Given the description of an element on the screen output the (x, y) to click on. 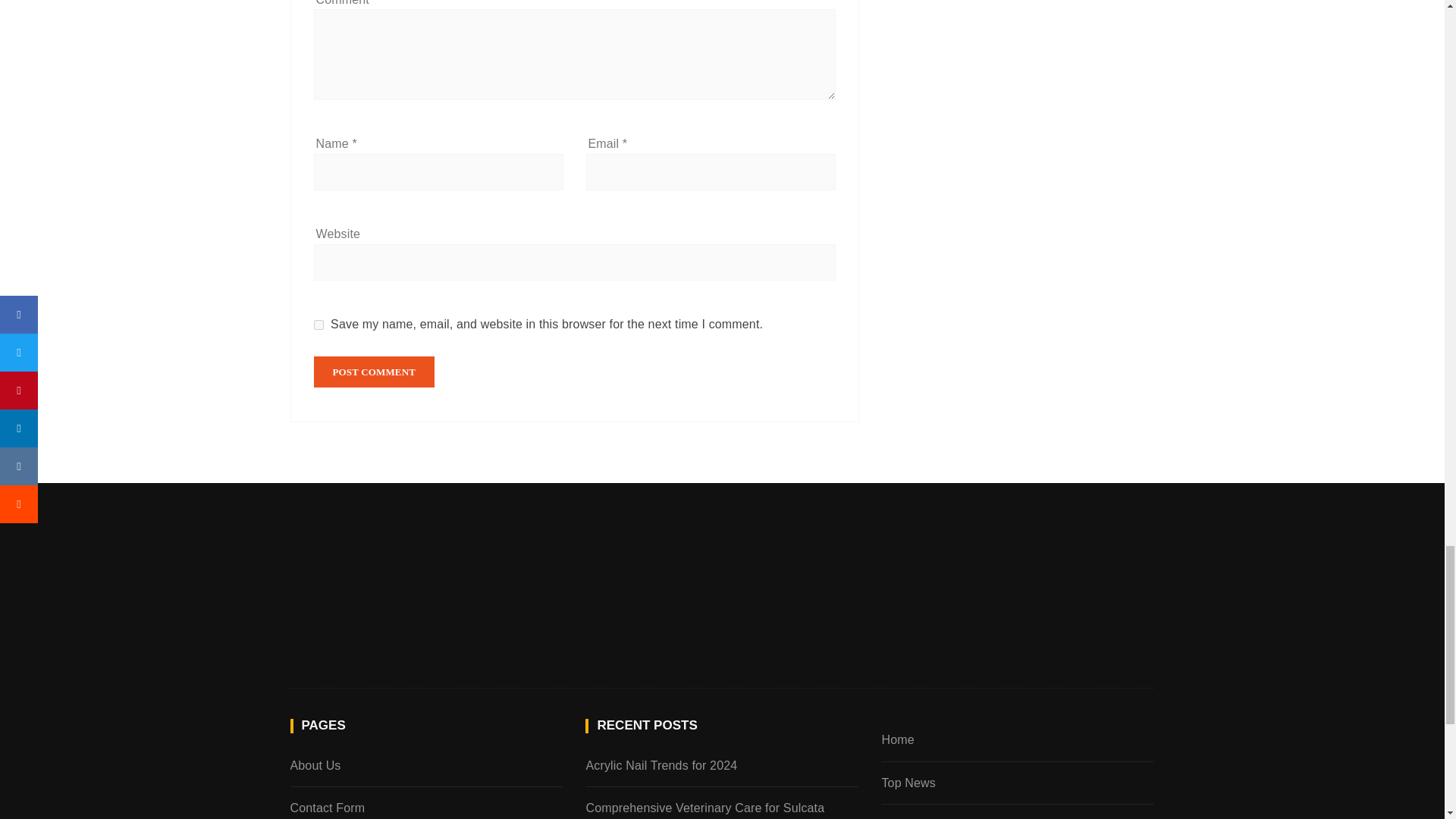
yes (318, 325)
Post Comment (374, 371)
Post Comment (374, 371)
